Given the description of an element on the screen output the (x, y) to click on. 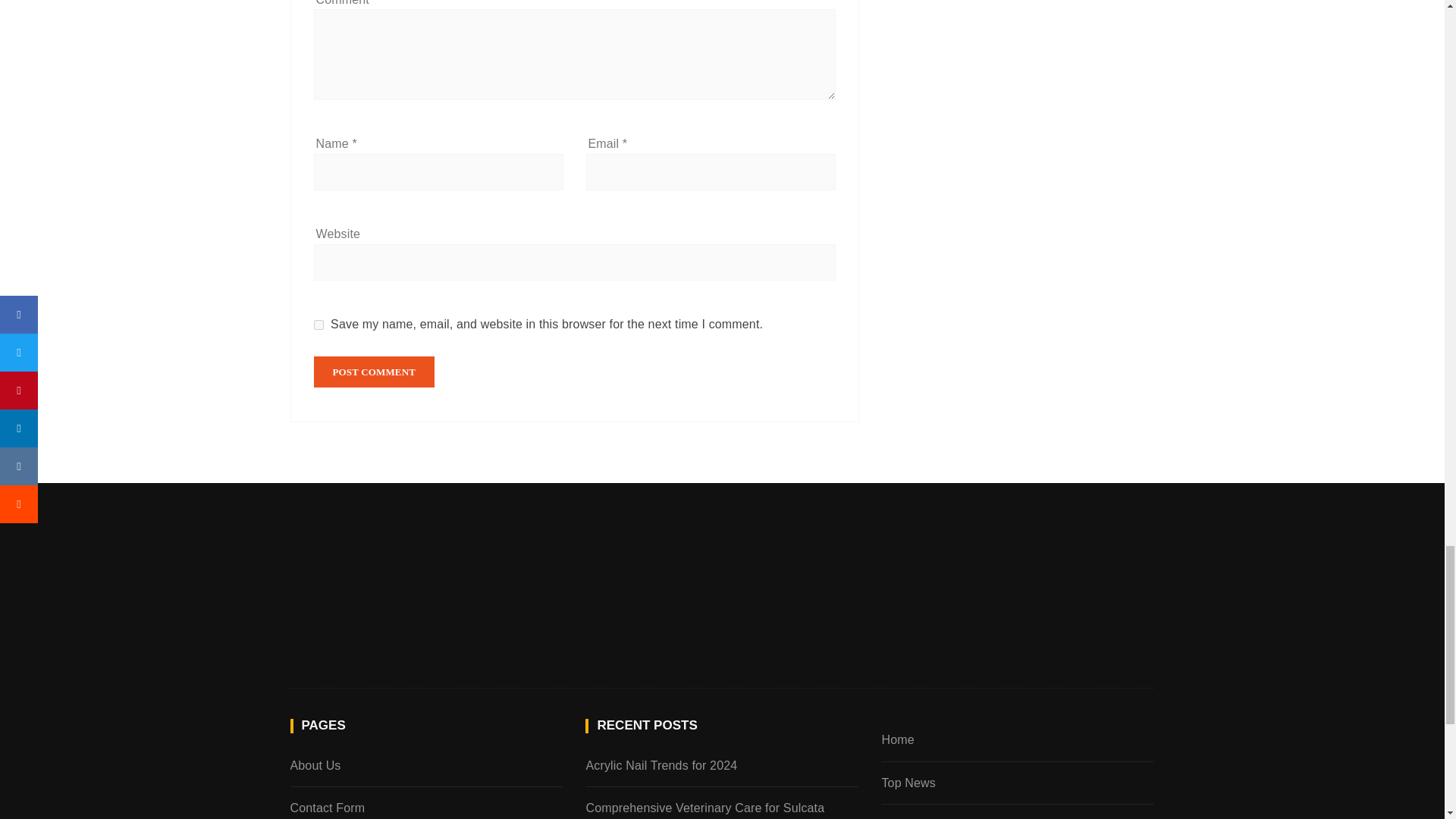
yes (318, 325)
Post Comment (374, 371)
Post Comment (374, 371)
